Given the description of an element on the screen output the (x, y) to click on. 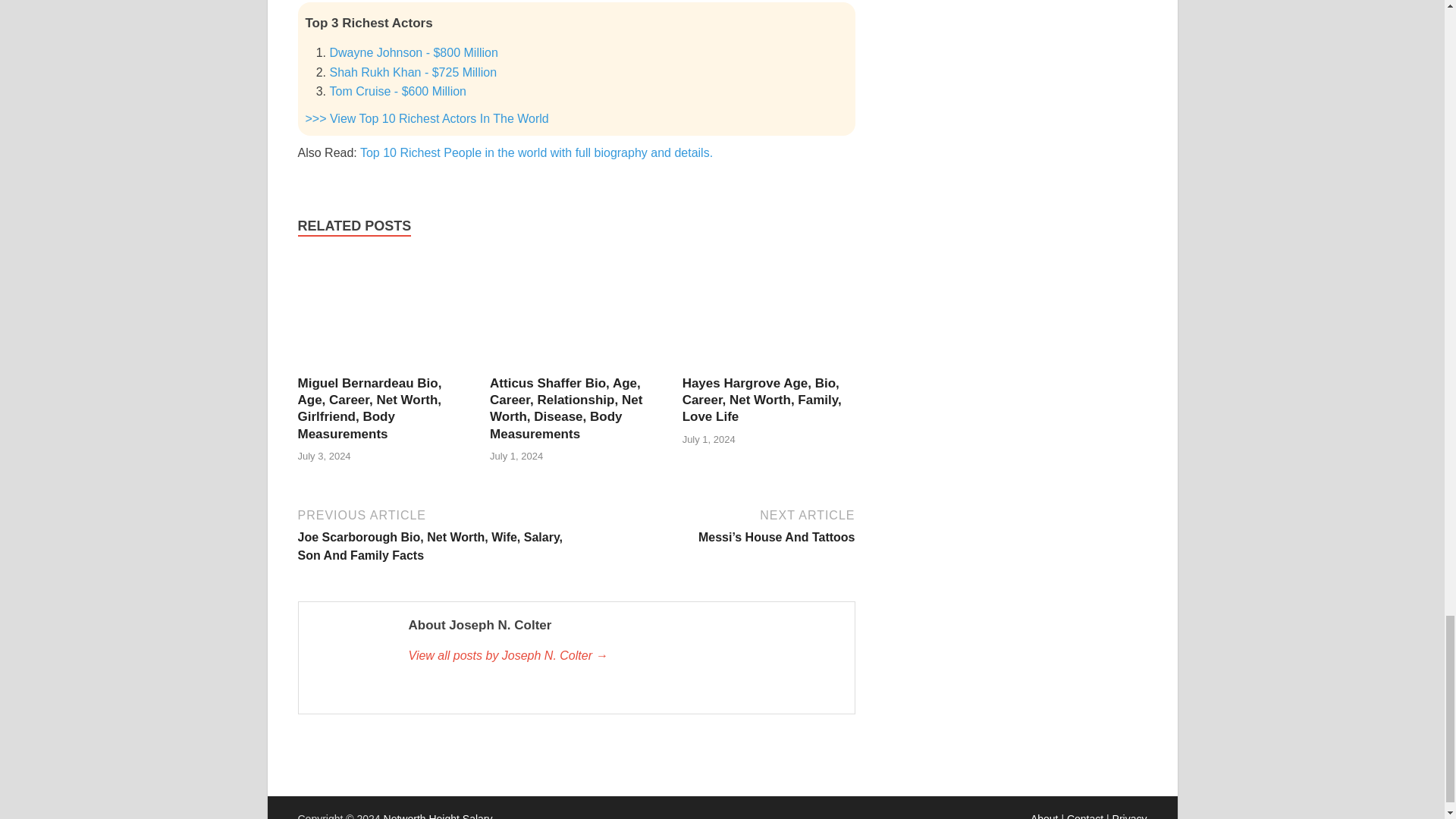
Shah Rukh Khan (412, 72)
Dwayne Johnson (413, 51)
Joseph N. Colter (622, 656)
Tom Cruise (397, 91)
